Given the description of an element on the screen output the (x, y) to click on. 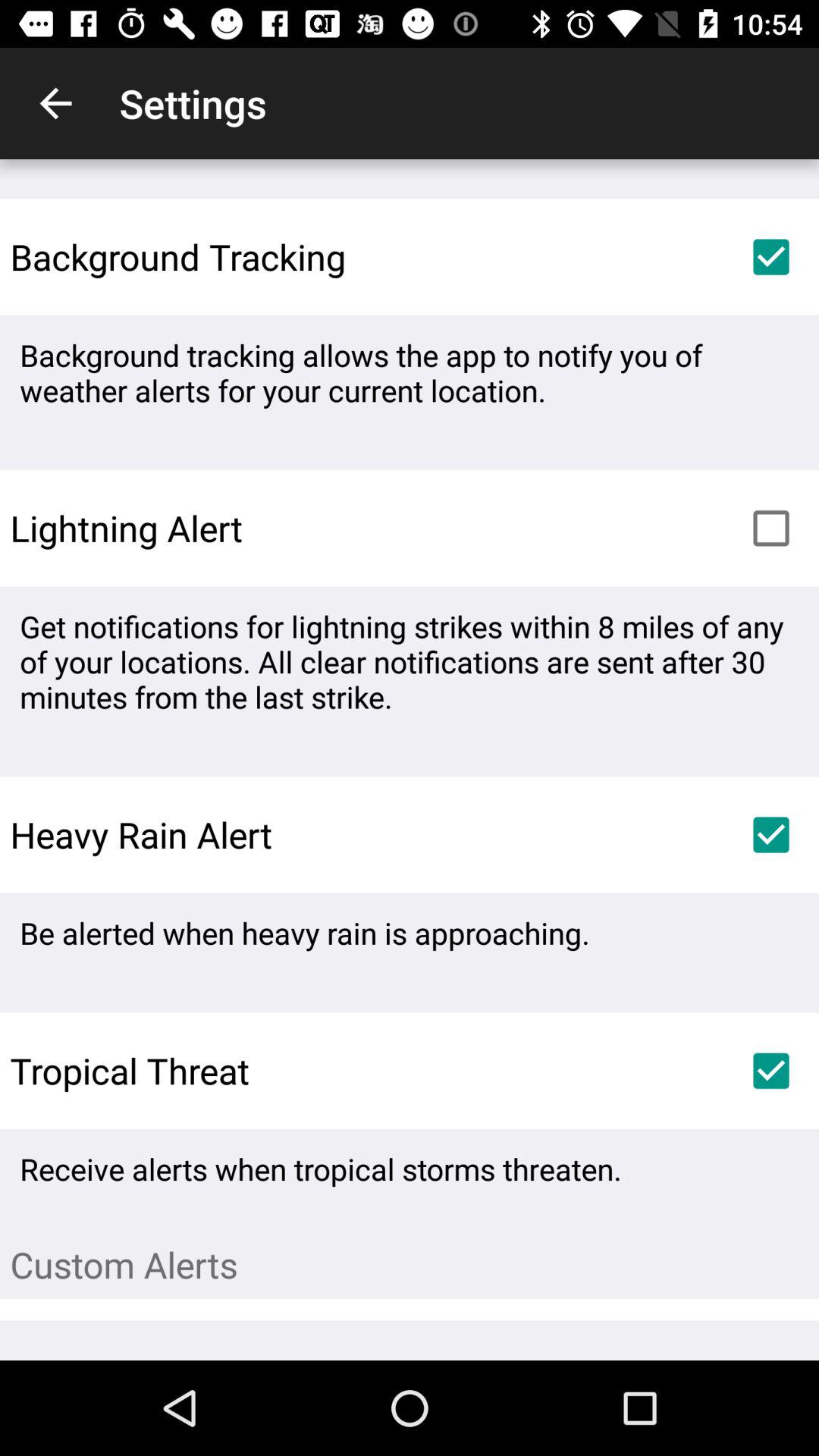
click icon next to heavy rain alert item (771, 834)
